Given the description of an element on the screen output the (x, y) to click on. 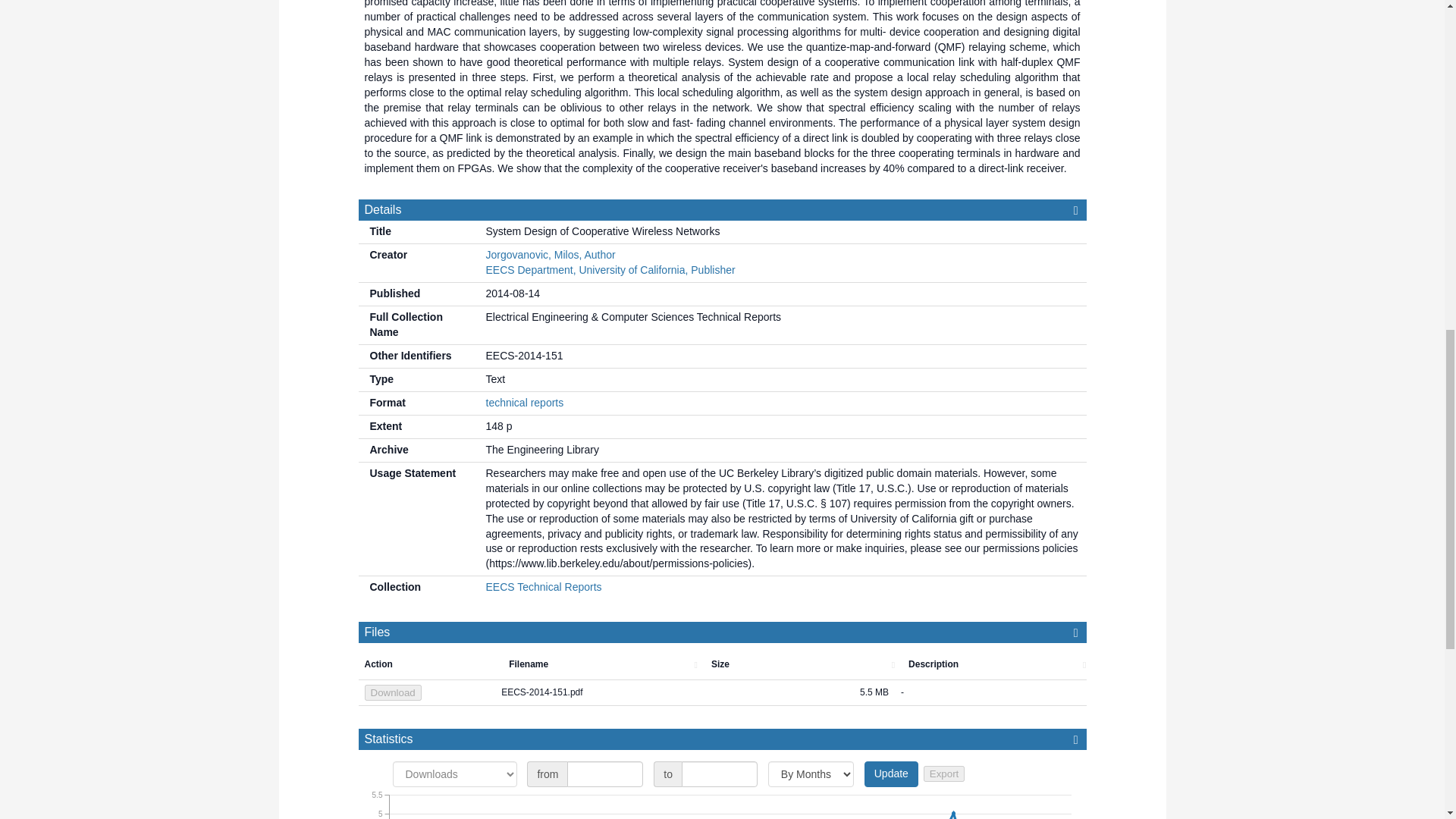
Update (891, 774)
5.5 MB (796, 692)
EECS Technical Reports (542, 586)
Jorgovanovic, Milos, Author (549, 254)
Action Filename Size Description (727, 664)
technical reports (523, 402)
Action Filename Size Description (722, 664)
EECS-2014-151.pdf (596, 692)
EECS Department, University of California, Publisher (609, 269)
- (990, 692)
Download EECS-2014-151.pdf 5.5 MB - (722, 692)
